Given the description of an element on the screen output the (x, y) to click on. 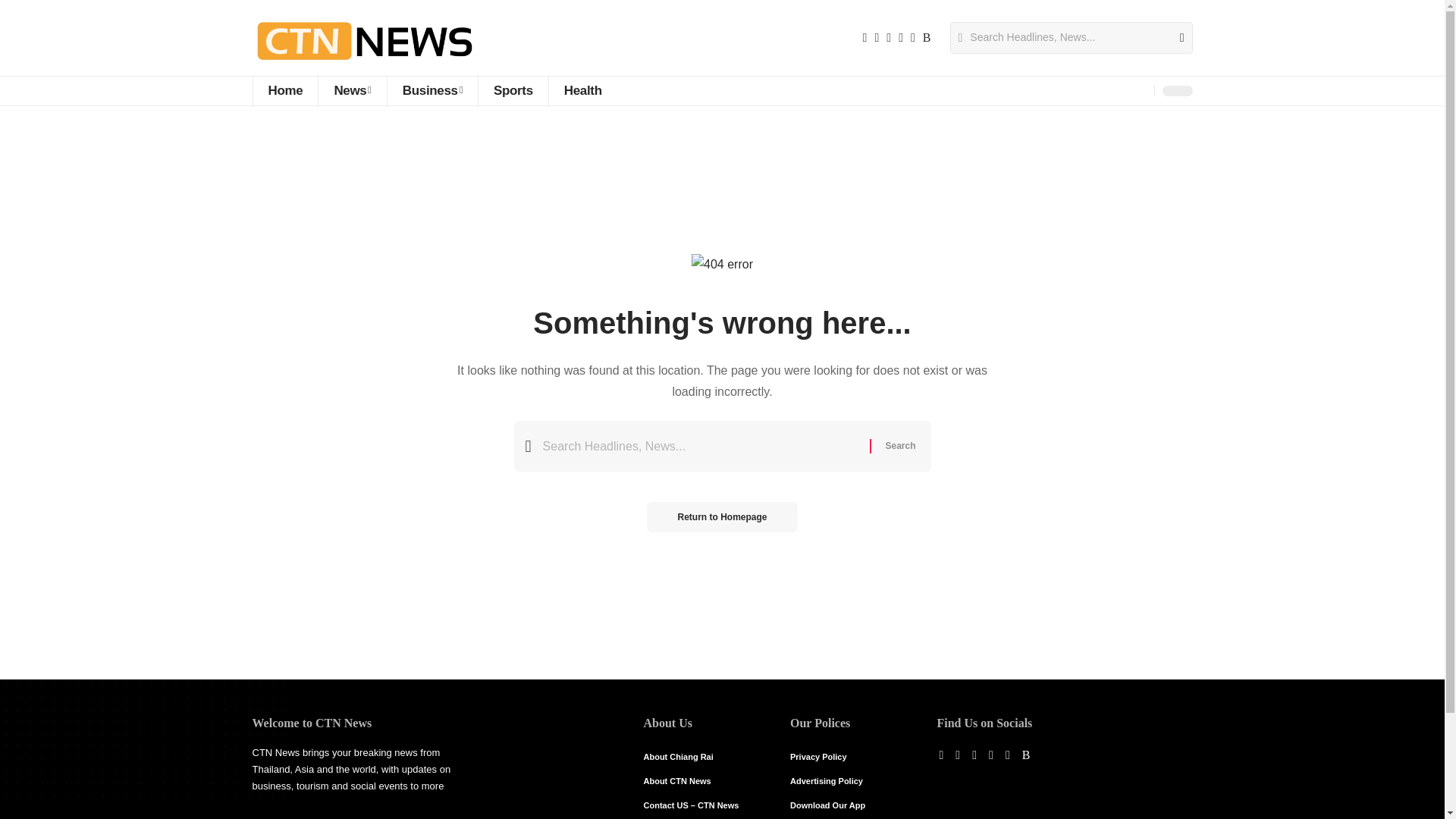
Health (582, 91)
Sports (512, 91)
Search (1175, 37)
CTN News - Chiang Rai Times (363, 37)
Business (432, 91)
Home (284, 91)
Search (899, 445)
News (351, 91)
